Given the description of an element on the screen output the (x, y) to click on. 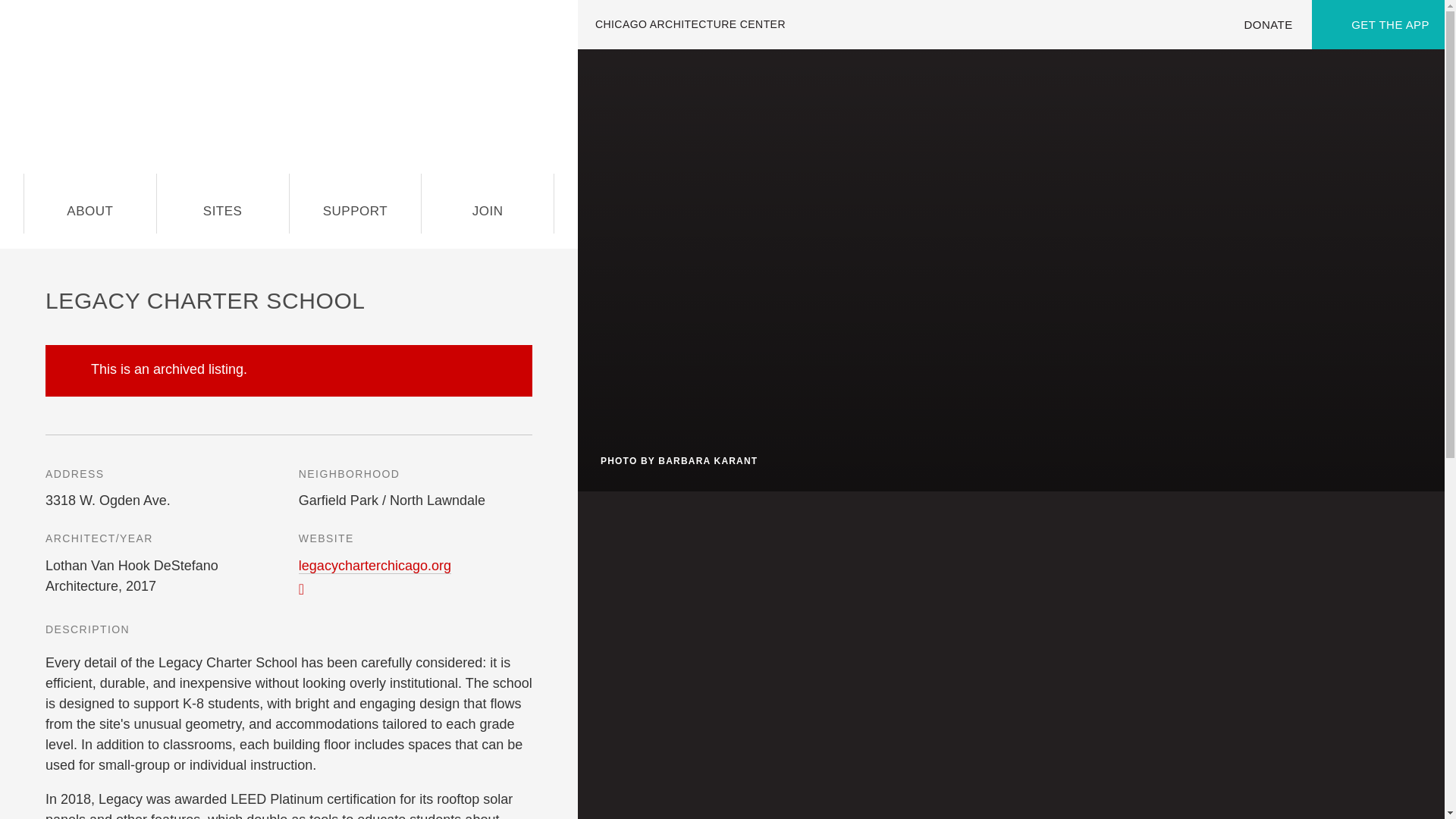
SUPPORT (355, 202)
ABOUT (89, 202)
DONATE (1267, 24)
JOIN (487, 202)
legacycharterchicago.org (374, 565)
Open House Chicago (289, 86)
SITES (222, 202)
CHICAGO ARCHITECTURE CENTER (690, 24)
